Given the description of an element on the screen output the (x, y) to click on. 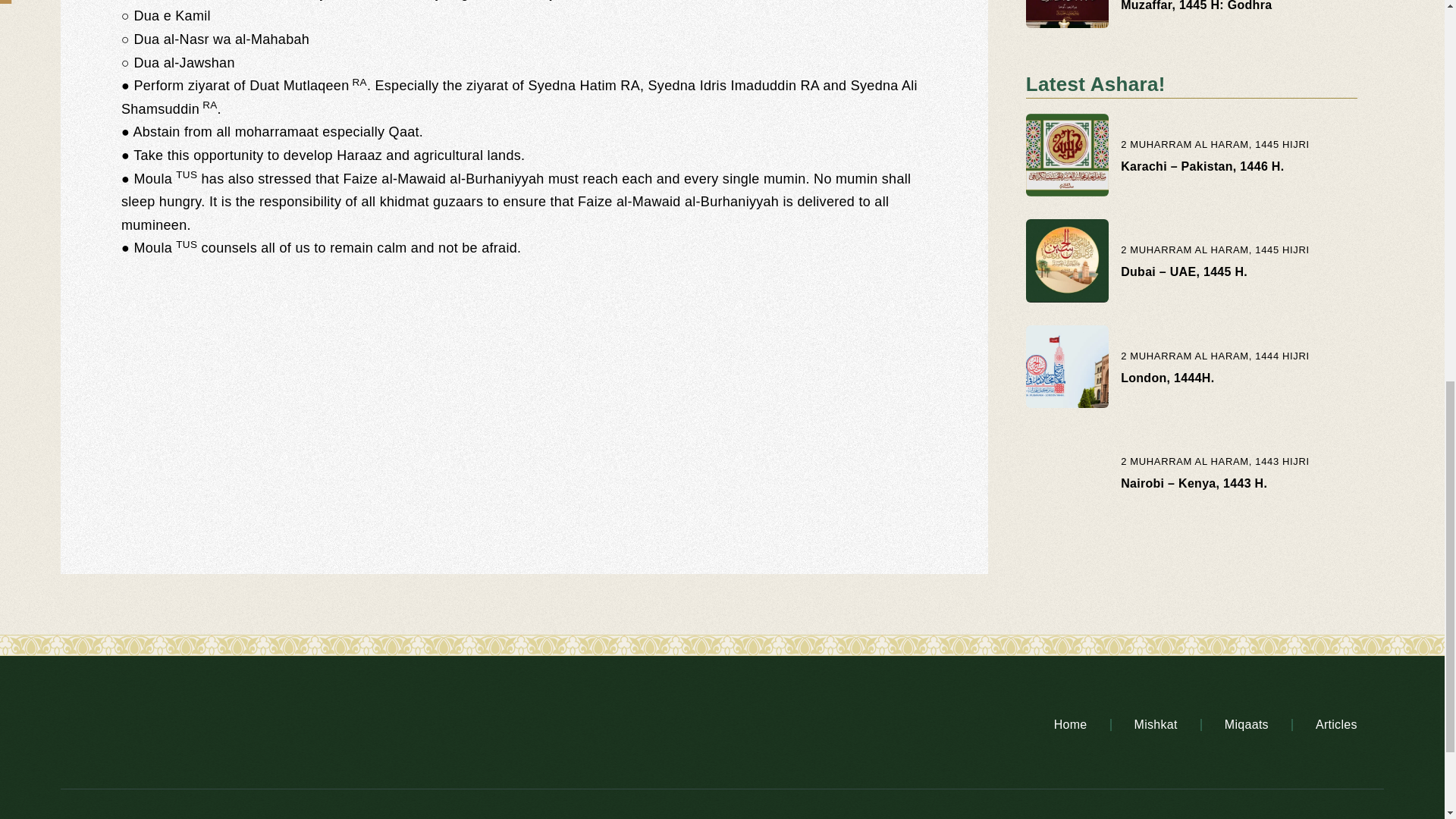
London, 1444H. (1167, 377)
18th to 23rd Safar al-Muzaffar, 1445 H: Godhra (1196, 5)
Mishkat (1155, 724)
Miqaats (1246, 724)
Latest Ashara! (1096, 83)
Articles (1336, 724)
Home (1070, 724)
